Given the description of an element on the screen output the (x, y) to click on. 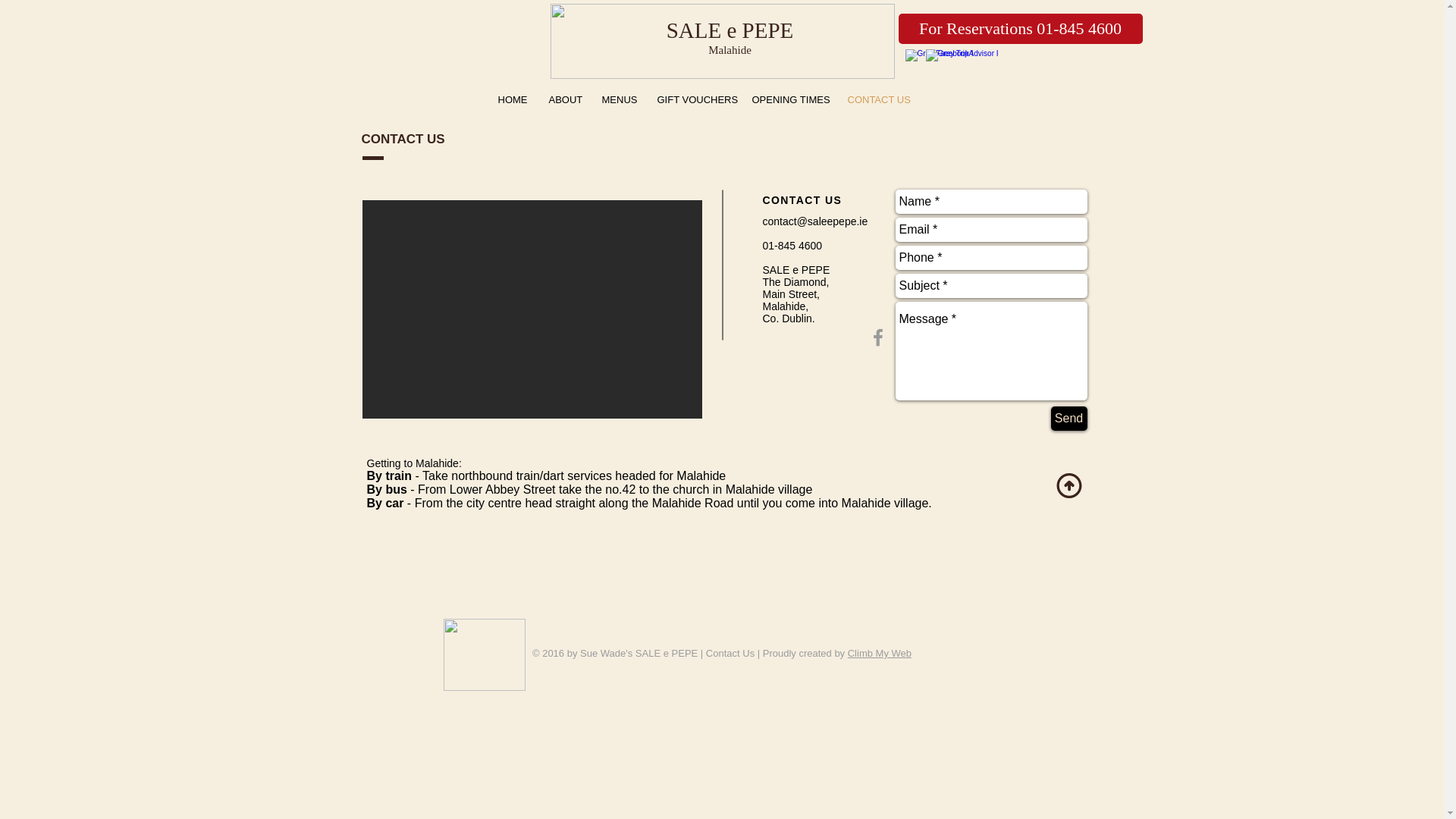
OPENING TIMES (789, 99)
Send (1069, 418)
SeP-Background.jpg (722, 41)
HEADER.jpg (483, 655)
CONTACT US (876, 99)
ABOUT (564, 99)
HOME (511, 99)
For Reservations 01-845 4600 (1019, 28)
GIFT VOUCHERS (693, 99)
